Given the description of an element on the screen output the (x, y) to click on. 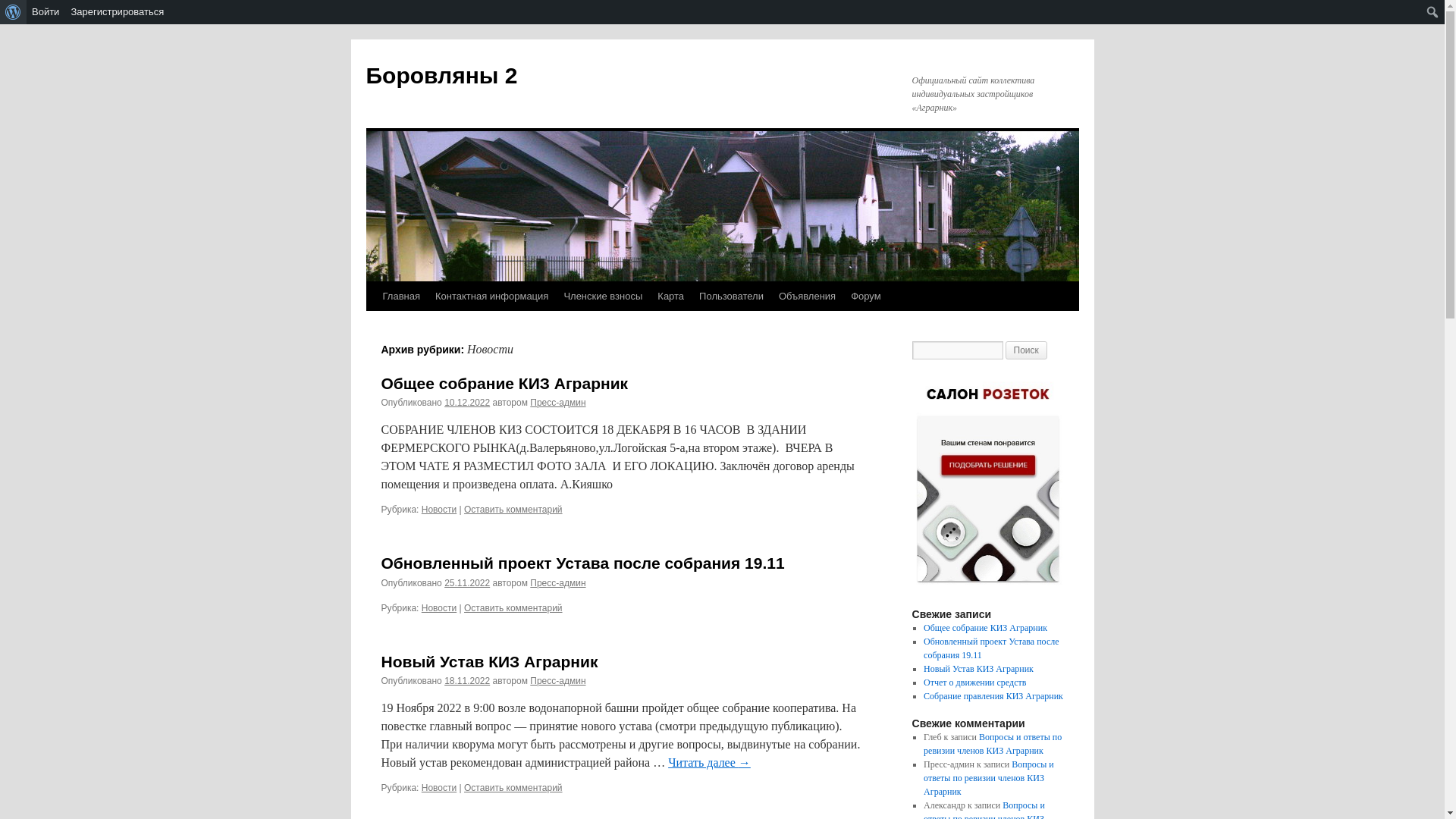
10.12.2022 Element type: text (466, 402)
25.11.2022 Element type: text (466, 582)
18.11.2022 Element type: text (466, 680)
